Given the description of an element on the screen output the (x, y) to click on. 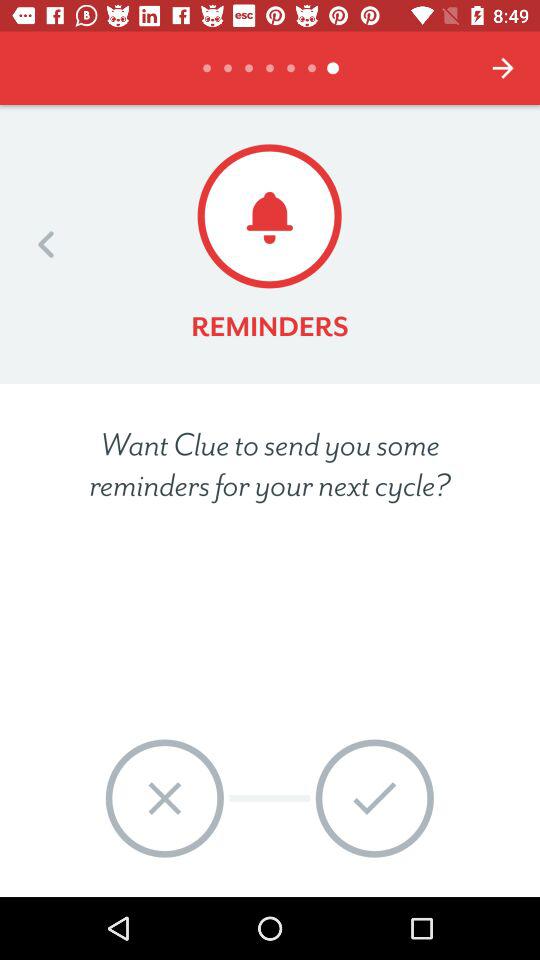
turn off the no (164, 798)
